Given the description of an element on the screen output the (x, y) to click on. 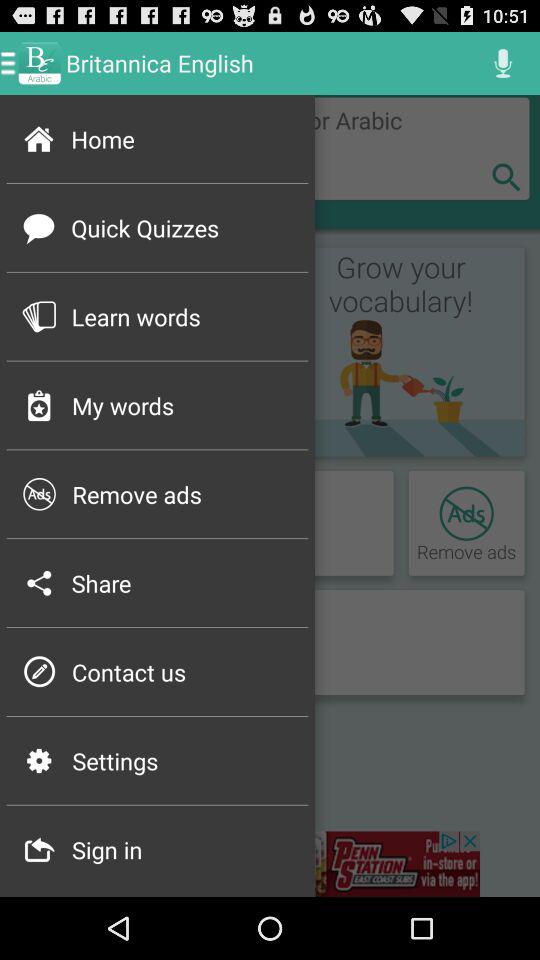
go to home page (268, 148)
